Given the description of an element on the screen output the (x, y) to click on. 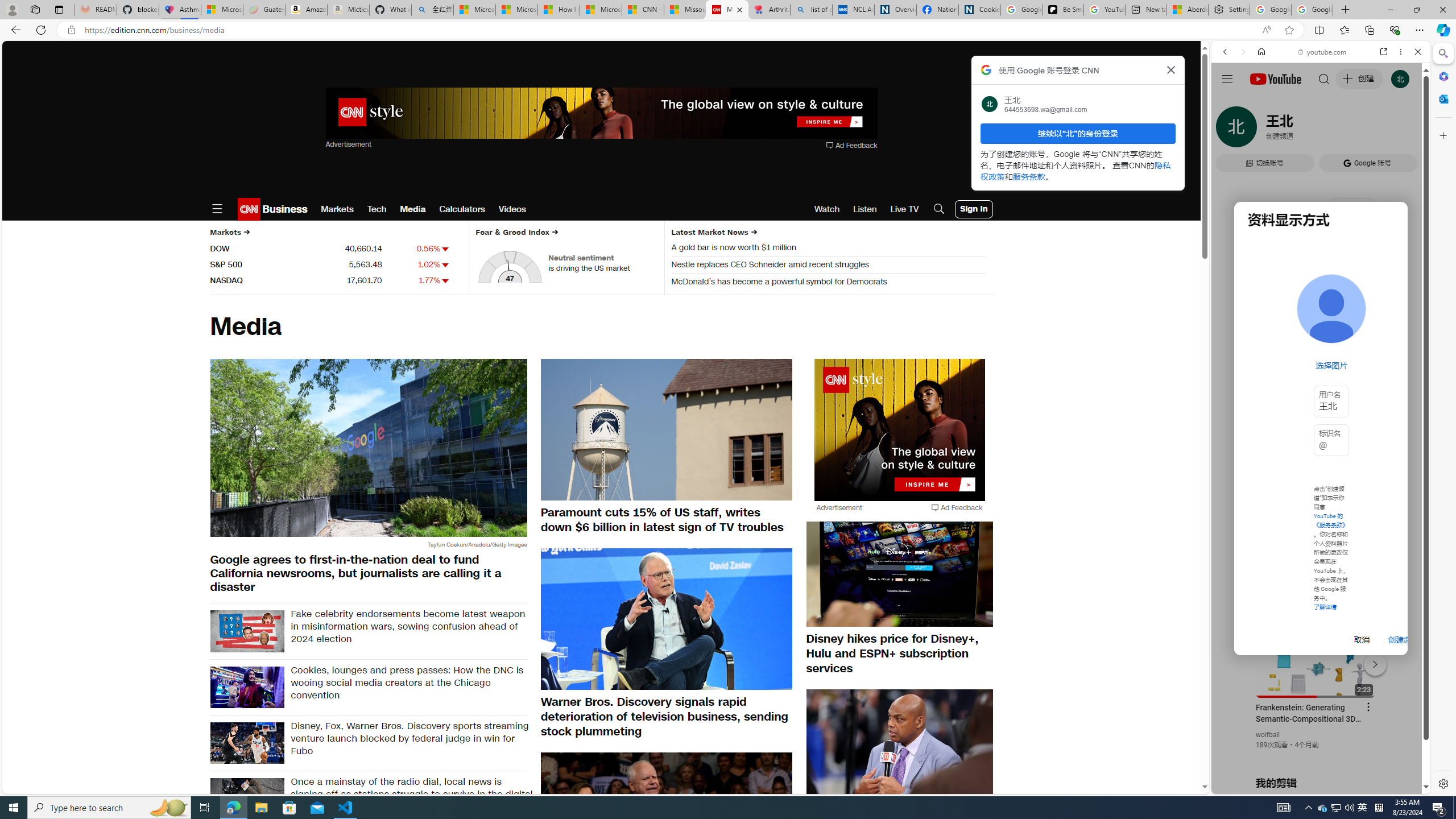
CNN logo (248, 209)
Trailer #2 [HD] (1320, 336)
